Given the description of an element on the screen output the (x, y) to click on. 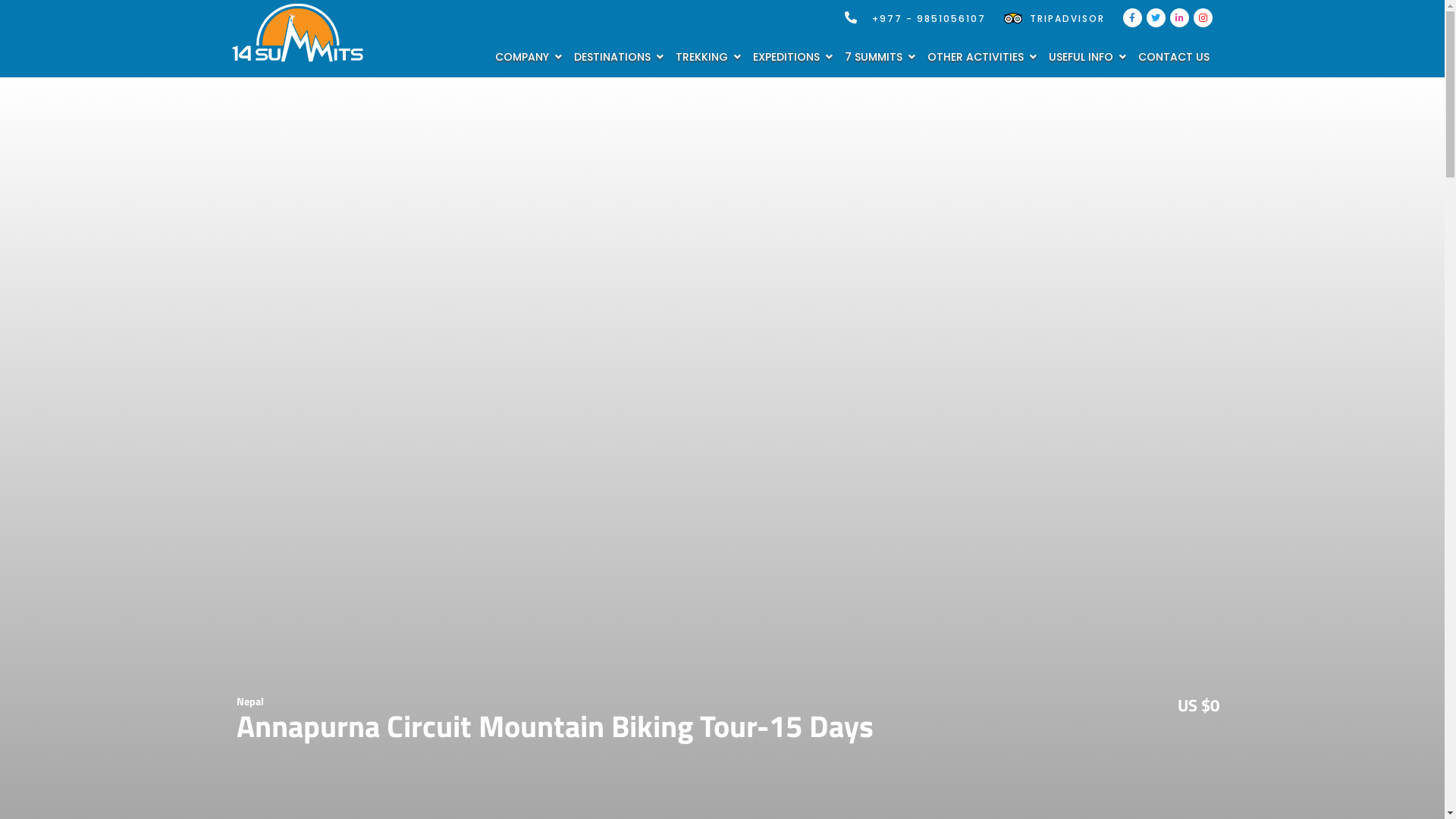
Nepal Element type: text (249, 701)
TRIPADVISOR Element type: text (1054, 18)
CONTACT US Element type: text (1172, 56)
